Given the description of an element on the screen output the (x, y) to click on. 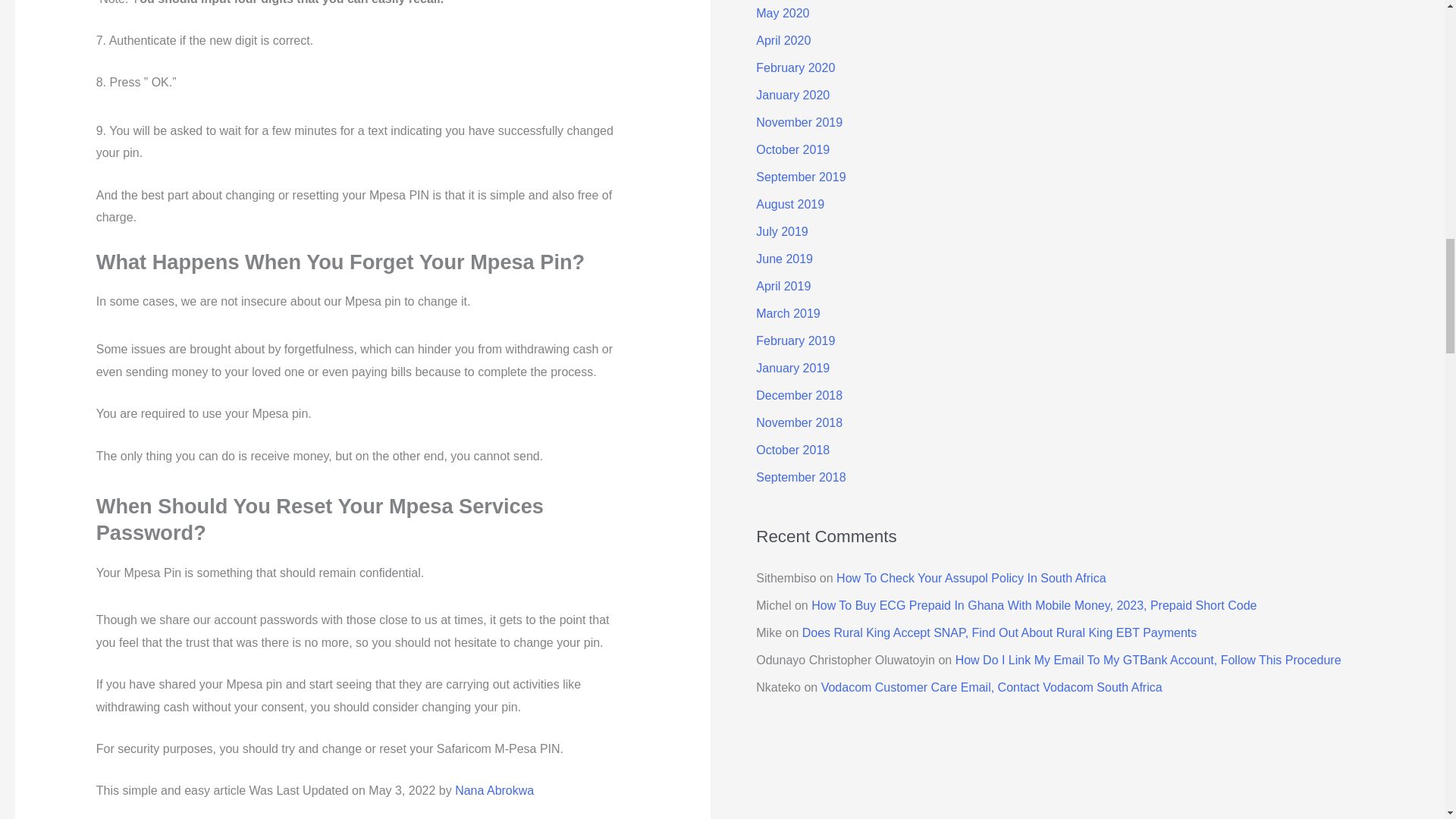
Nana Abrokwa (494, 789)
